Given the description of an element on the screen output the (x, y) to click on. 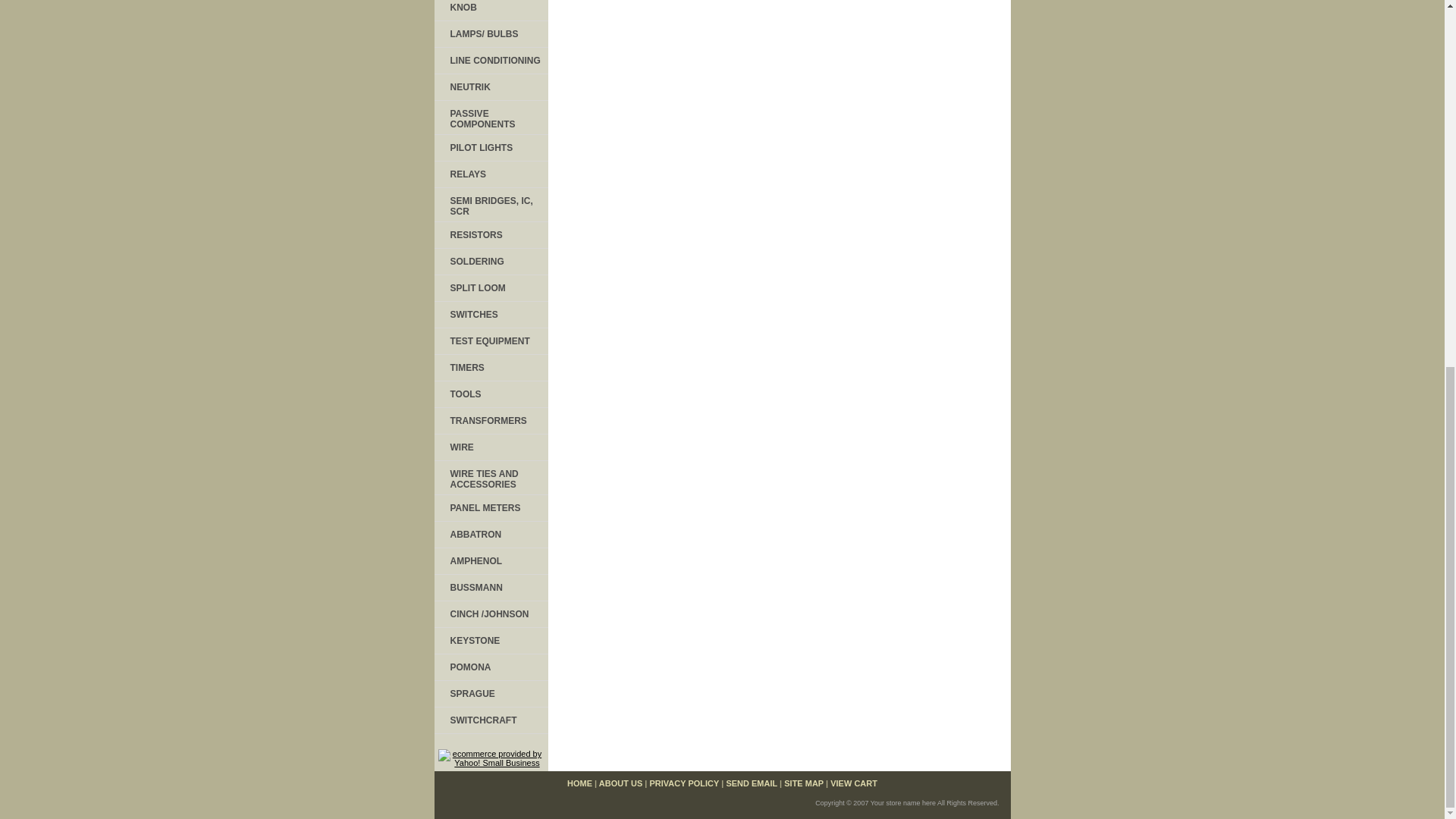
SEMI BRIDGES, IC, SCR (490, 204)
KNOB (490, 10)
RESISTORS (490, 234)
LINE CONDITIONING (490, 60)
NEUTRIK (490, 87)
PASSIVE COMPONENTS (490, 117)
RELAYS (490, 174)
PILOT LIGHTS (490, 148)
